Given the description of an element on the screen output the (x, y) to click on. 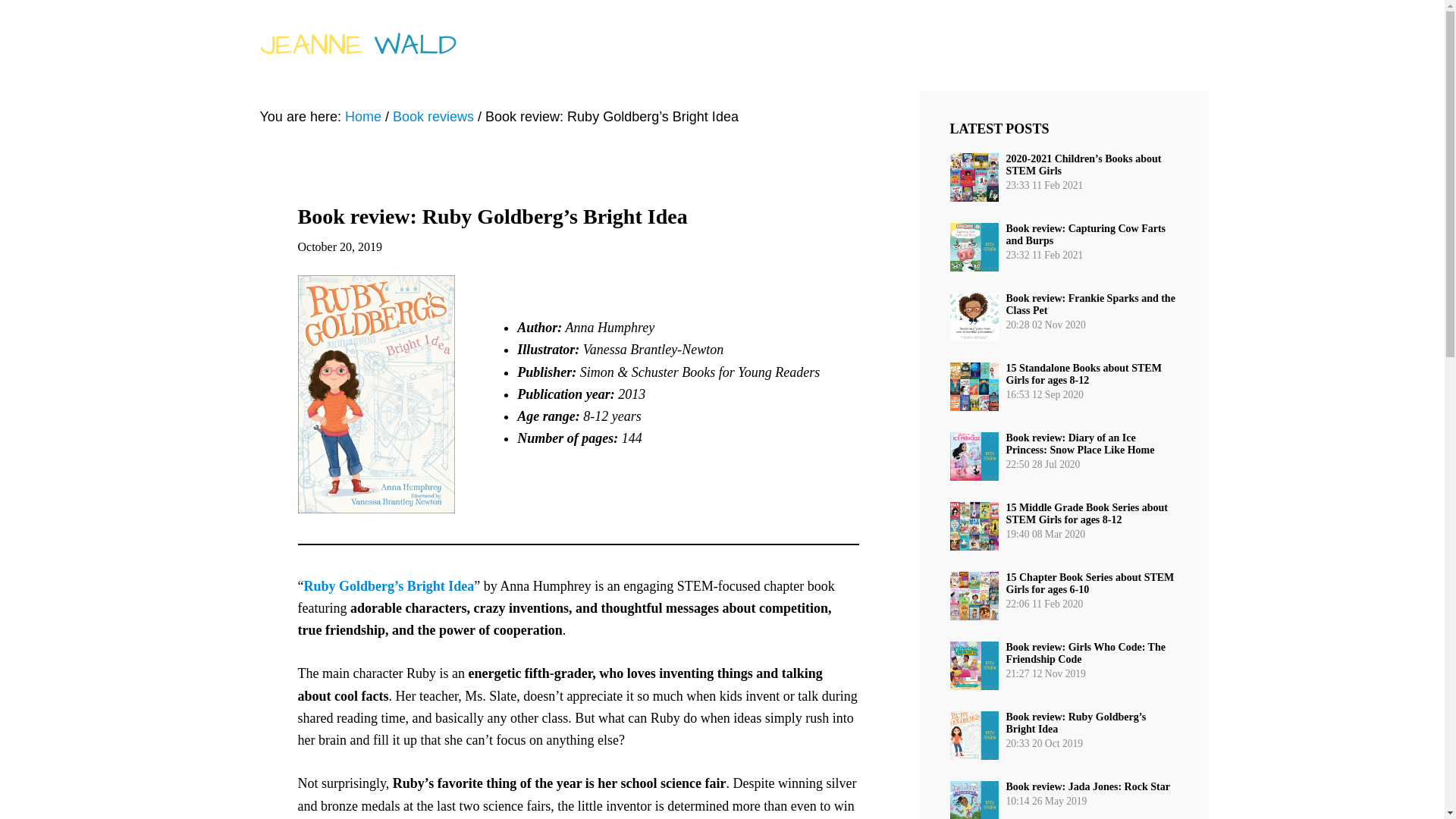
Book review: Frankie Sparks and the Class Pet (1090, 304)
Jeanne Wald (357, 45)
Book review: Diary of an Ice Princess: Snow Place Like Home (1080, 443)
Book review: Girls Who Code: The Friendship Code (1085, 653)
Book review: Capturing Cow Farts and Burps (1086, 234)
Book review: Jada Jones: Rock Star (1087, 786)
Home (363, 116)
ACTIVITIES (1069, 45)
15 Standalone Books about STEM Girls for ages 8-12 (1083, 373)
CONTACT (1164, 45)
MIA MARCOTTE (956, 45)
15 Middle Grade Book Series about STEM Girls for ages 8-12 (1086, 513)
Book reviews (433, 116)
15 Chapter Book Series about STEM Girls for ages 6-10 (1089, 583)
